Given the description of an element on the screen output the (x, y) to click on. 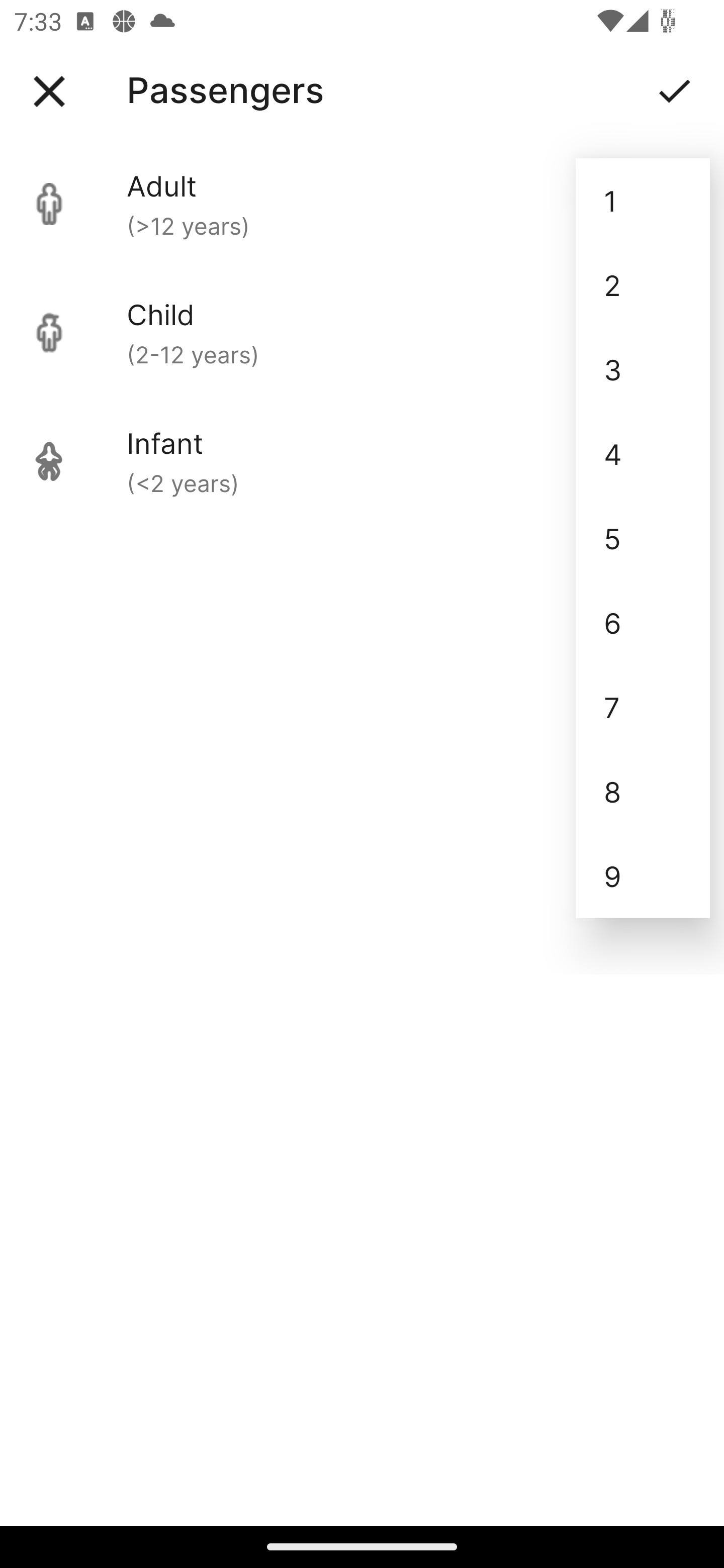
1 (642, 200)
2 (642, 285)
3 (642, 368)
4 (642, 452)
5 (642, 537)
6 (642, 622)
7 (642, 706)
8 (642, 791)
9 (642, 876)
